Given the description of an element on the screen output the (x, y) to click on. 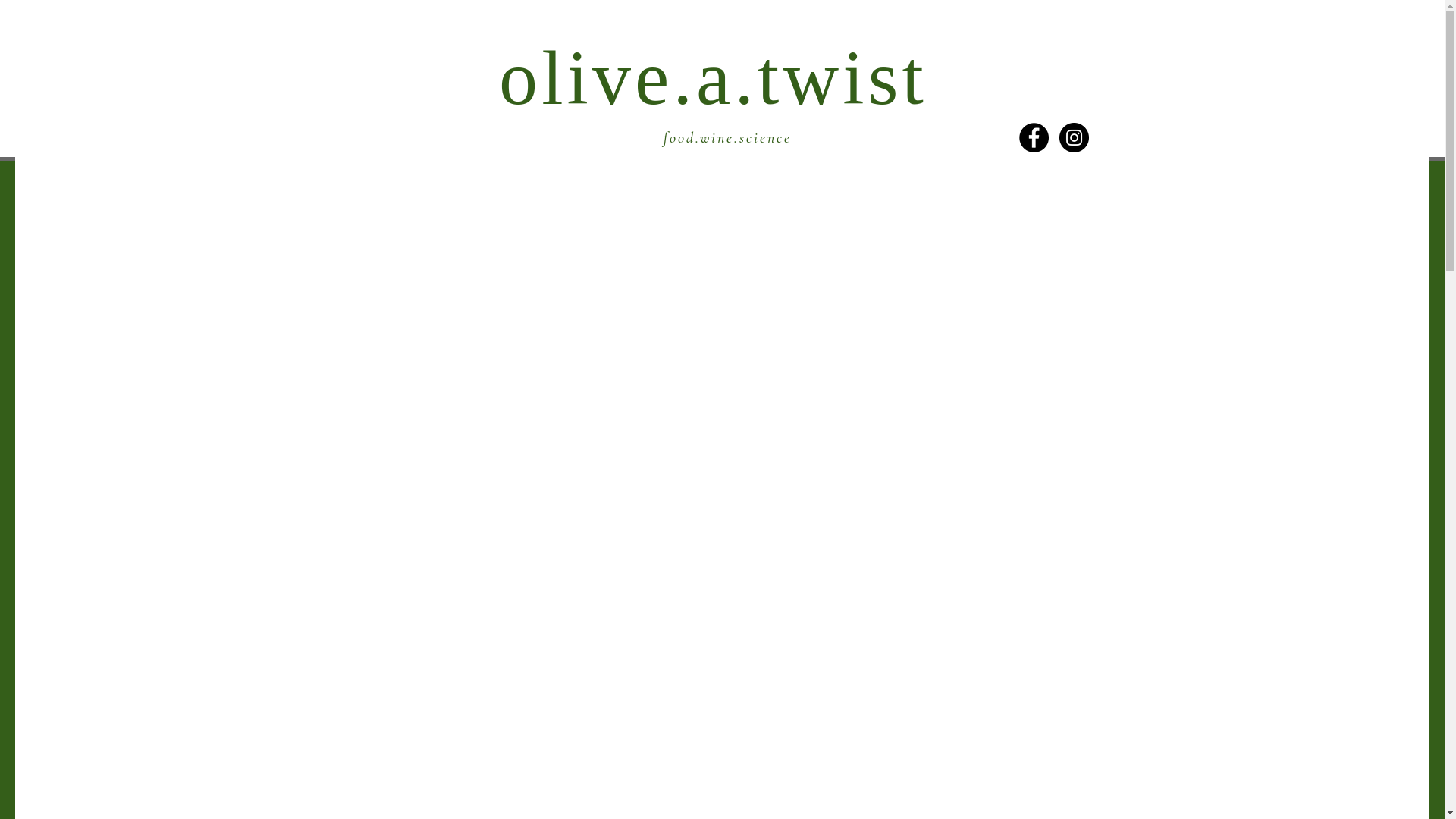
olive.a.twist Element type: text (712, 77)
